Given the description of an element on the screen output the (x, y) to click on. 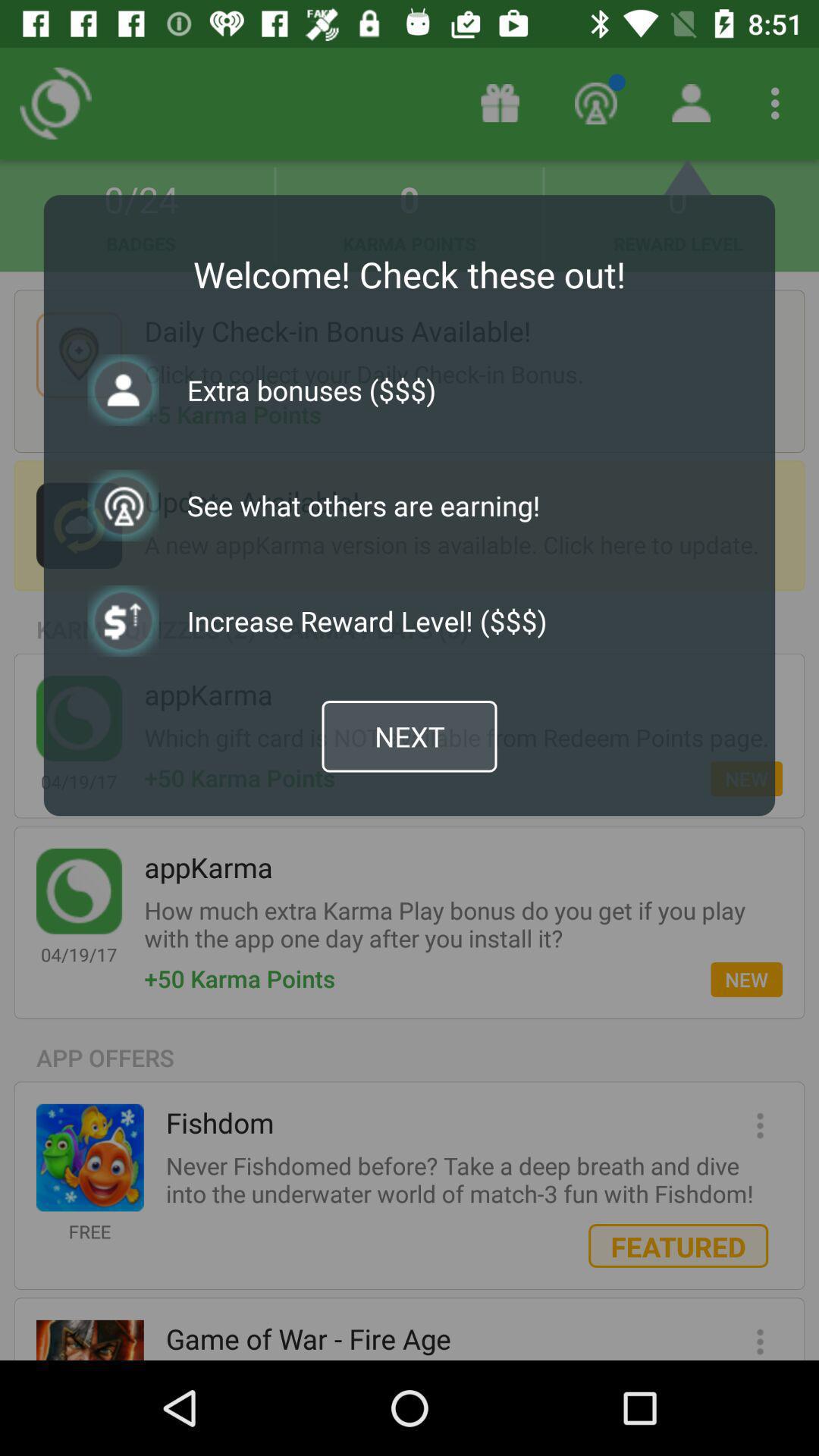
select the item below increase reward level! ($$$) item (409, 736)
